Given the description of an element on the screen output the (x, y) to click on. 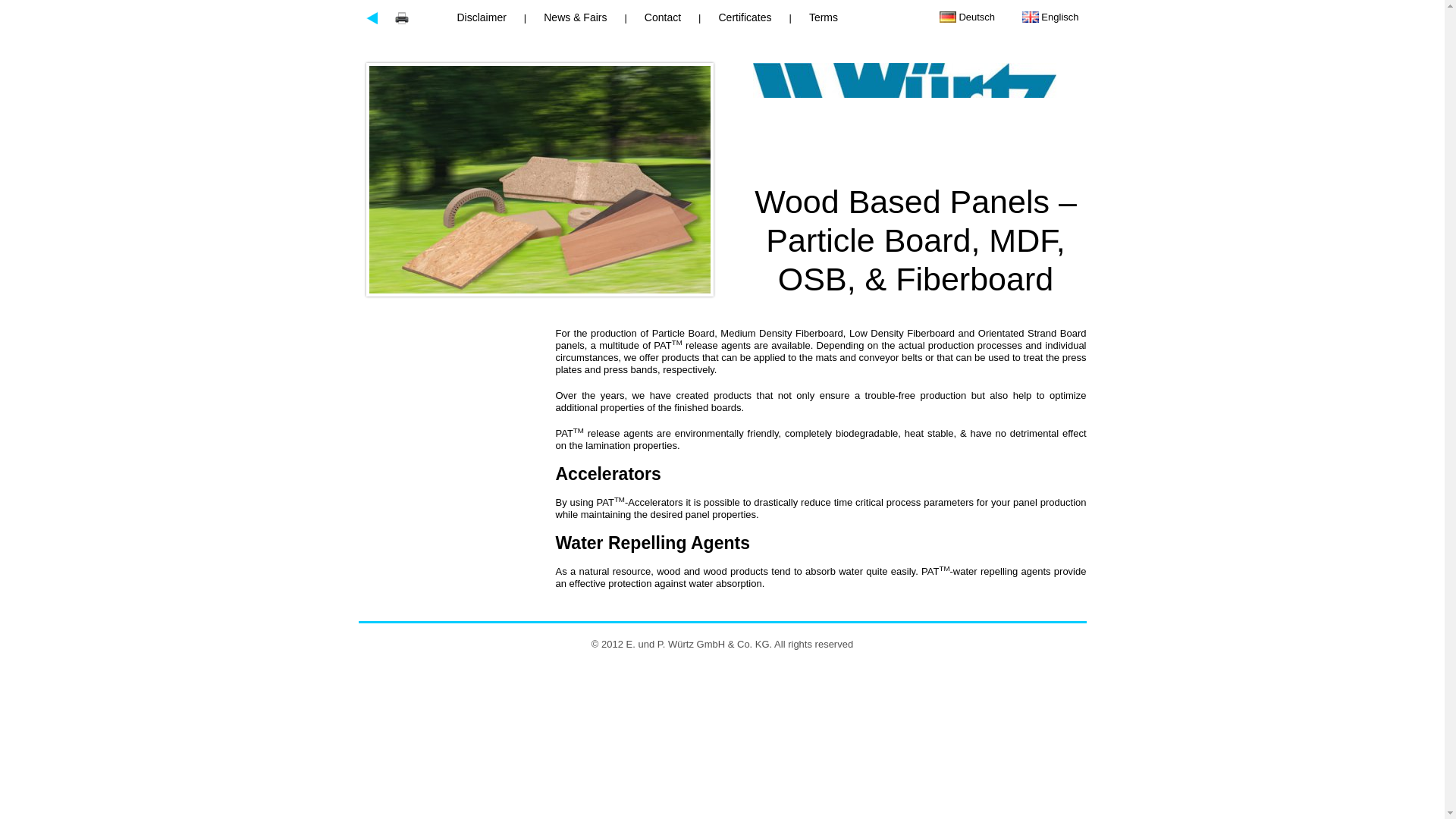
Terms (823, 17)
Deutsch (968, 16)
back to home (892, 107)
Certificates (743, 17)
Contact (662, 17)
back to home (372, 17)
Disclaimer (486, 17)
print page (401, 17)
